Given the description of an element on the screen output the (x, y) to click on. 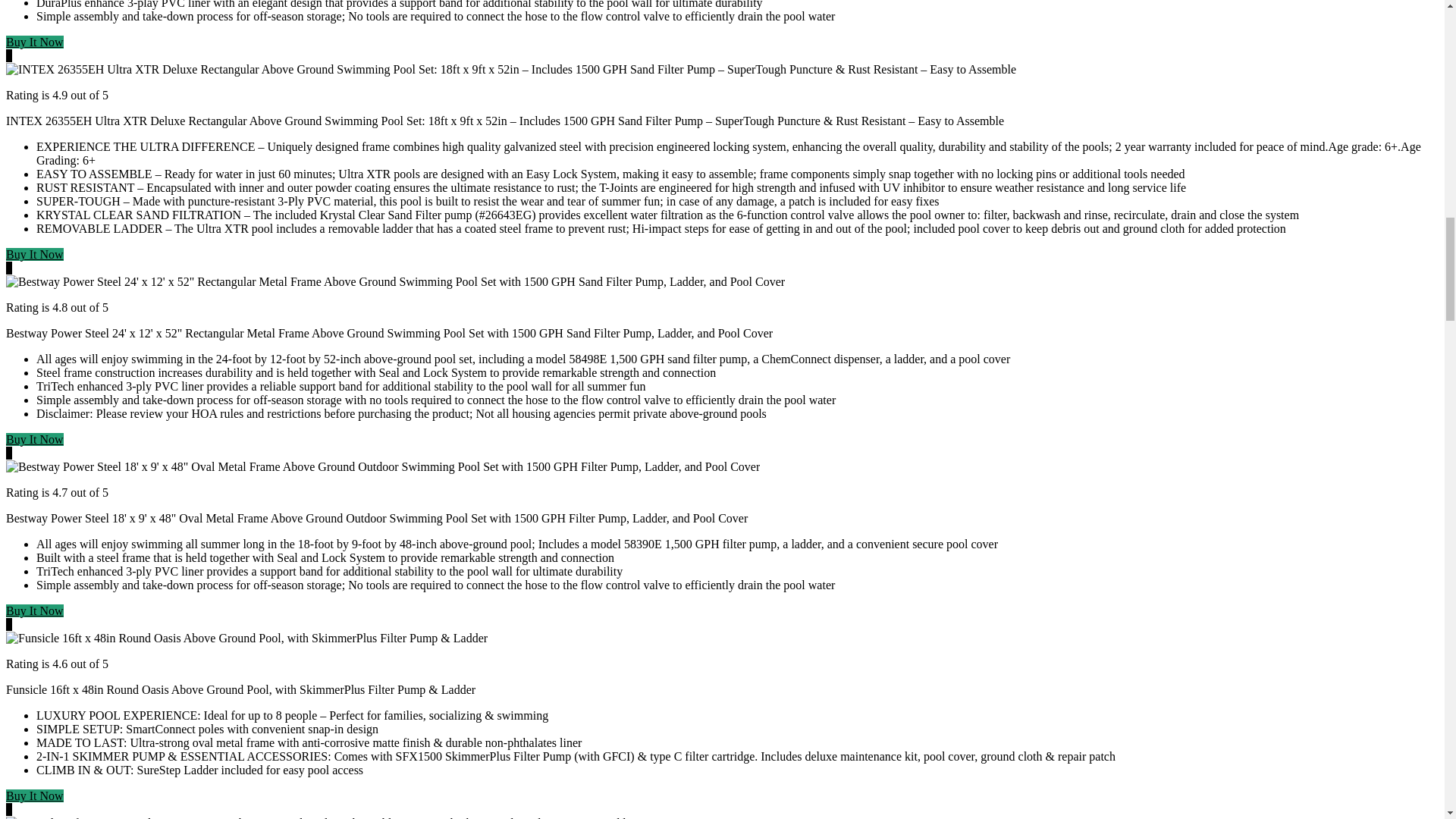
Buy It Now (34, 439)
Buy It Now (34, 254)
Buy It Now (34, 42)
